Given the description of an element on the screen output the (x, y) to click on. 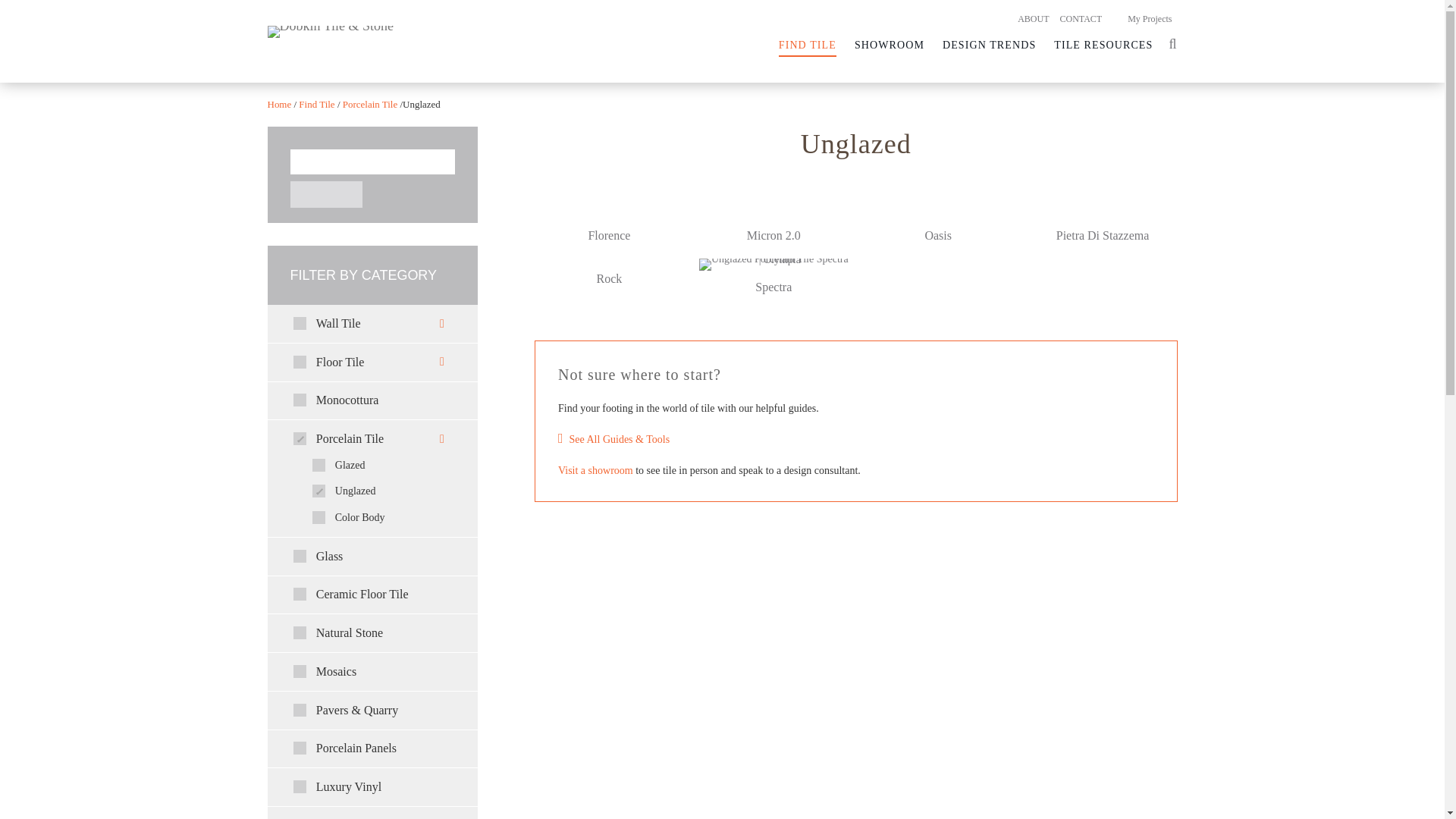
Florence (609, 236)
Go to Find Tile. (317, 103)
ABOUT (1032, 18)
Pietra Di Stazzema (1102, 236)
Micron 2.0 (773, 236)
Oasis (938, 236)
Unglazed (855, 170)
Rock (609, 280)
Spectra (773, 284)
Go to Porcelain Tile. (368, 103)
